Given the description of an element on the screen output the (x, y) to click on. 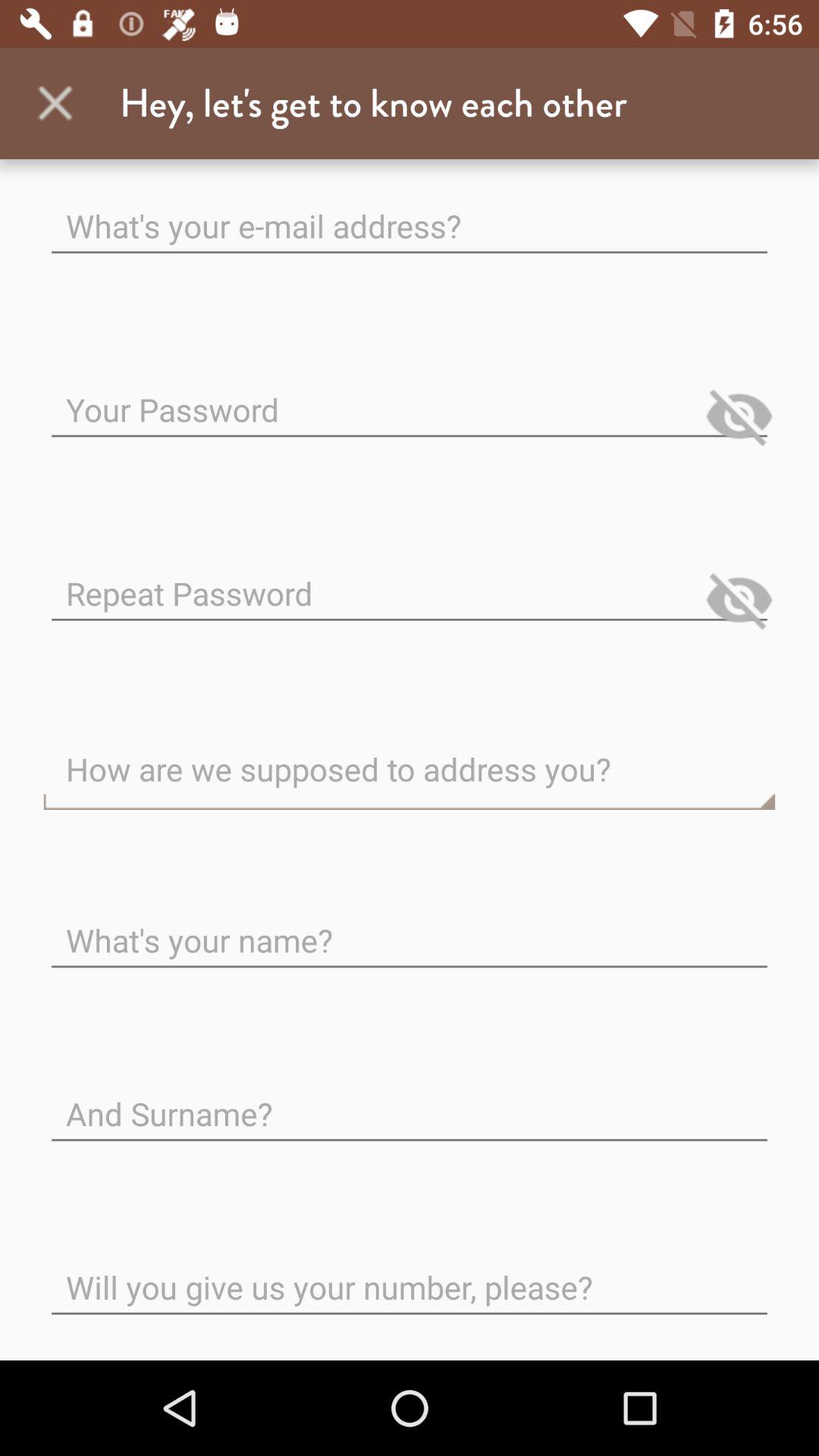
enter the email address (409, 214)
